Given the description of an element on the screen output the (x, y) to click on. 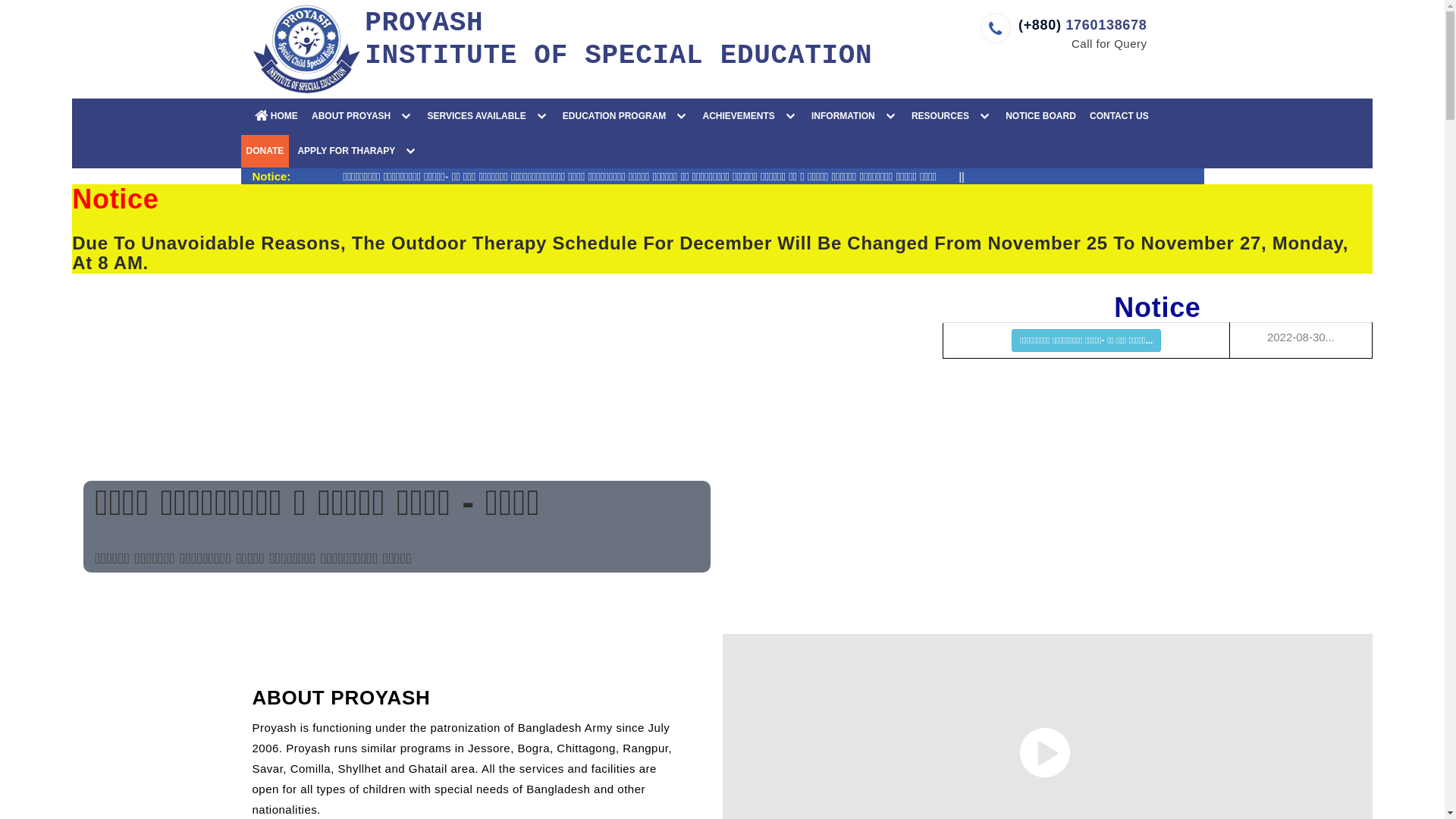
INFORMATION Element type: text (854, 116)
SPECIAL EDUCATION PROGRAM Element type: text (670, 150)
CONTACT US Element type: text (1119, 116)
ADMISSION Element type: text (1147, 150)
SPECIALIZED INTERVENTION CLINIC Element type: text (535, 150)
EDUCATION PROGRAM Element type: text (625, 116)
Proyash Element type: hover (305, 48)
OVERVIEW Element type: text (419, 150)
PHOTOS Element type: text (1019, 150)
APPLY FOR THARAPY Element type: text (357, 151)
(+880) 1760138678 Element type: text (1082, 24)
HISTORY Element type: text (647, 150)
ABOUT PROYASH Element type: text (362, 116)
NOTICE BOARD Element type: text (1040, 116)
EARLY CHILDHOOD DEVELOPMENT PROGRAMME (ECDP) Element type: text (898, 157)
HOME Element type: text (272, 116)
SCHOOL OF AUTISM Element type: text (898, 150)
SCHOOLS Element type: text (919, 150)
ACHIEVEMENTS Element type: text (749, 116)
EDUCATION Element type: text (810, 150)
RESOURCES Element type: text (951, 116)
MEDICAL ASSESSMENT & CARE Element type: text (762, 150)
DONATE Element type: text (265, 150)
SERVICES AVAILABLE Element type: text (487, 116)
LOGIN Element type: text (405, 185)
